Given the description of an element on the screen output the (x, y) to click on. 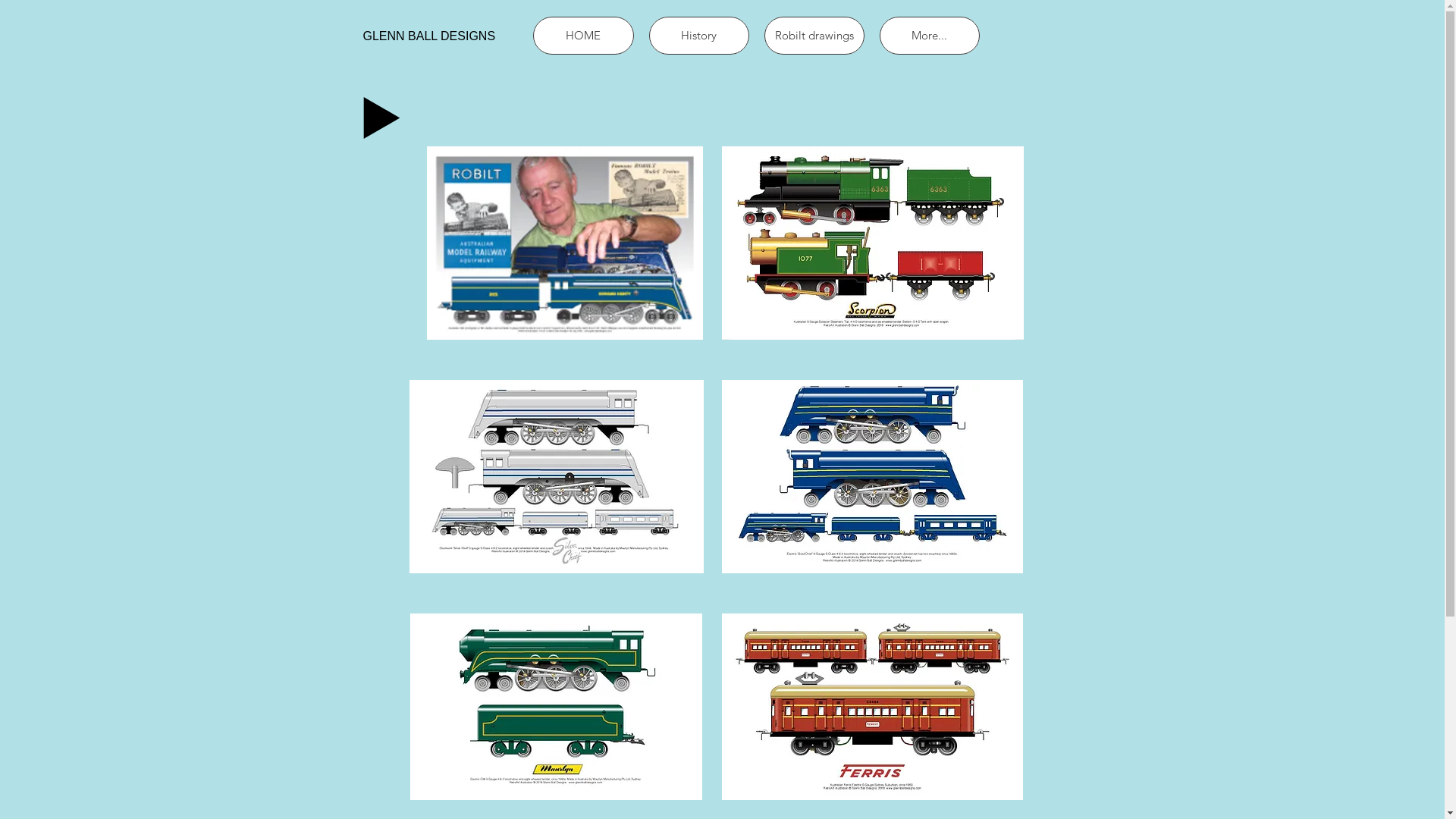
HOME Element type: text (582, 35)
Robilt drawings Element type: text (814, 35)
History Element type: text (699, 35)
